Given the description of an element on the screen output the (x, y) to click on. 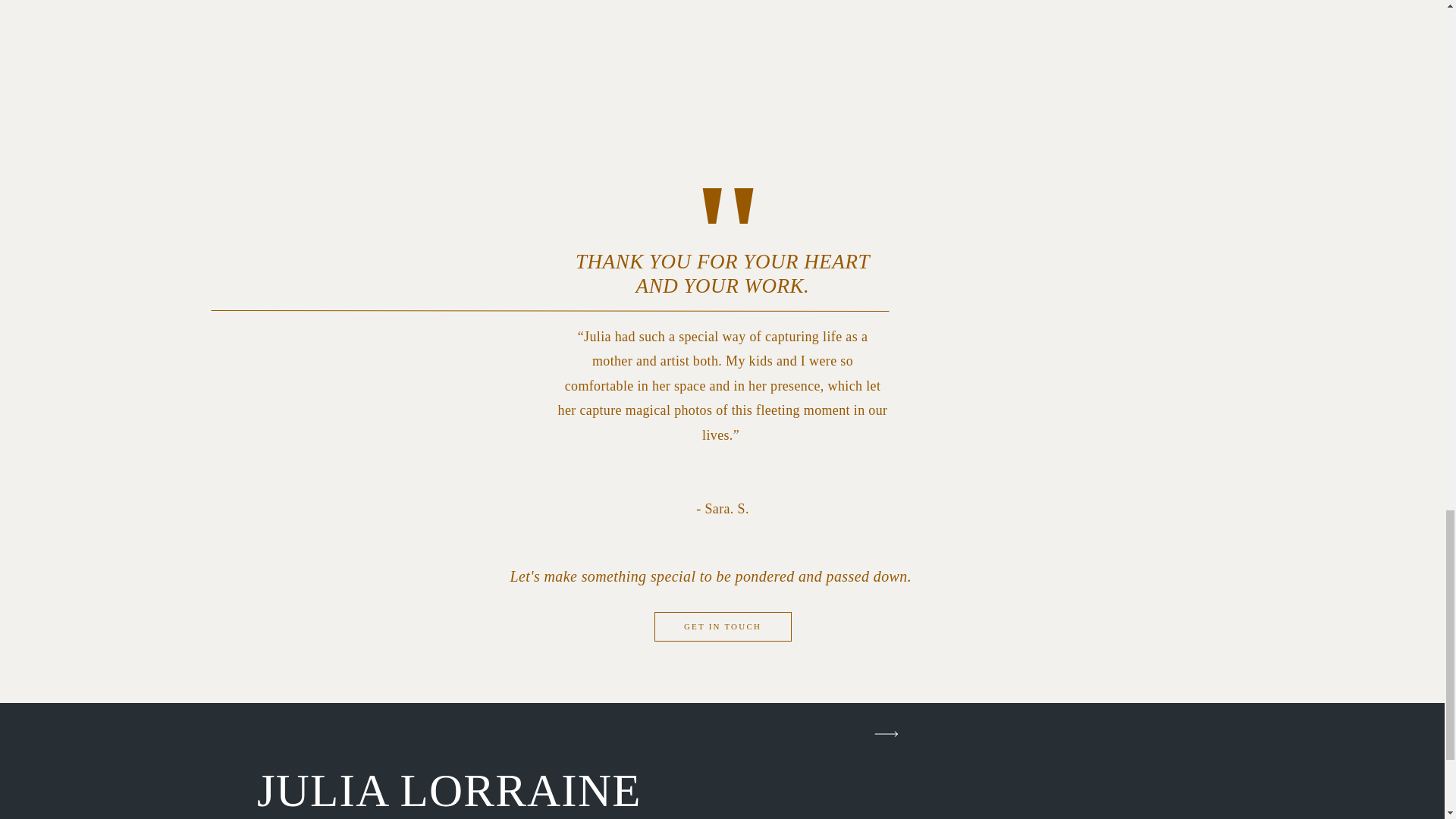
GET IN TOUCH (722, 629)
